Given the description of an element on the screen output the (x, y) to click on. 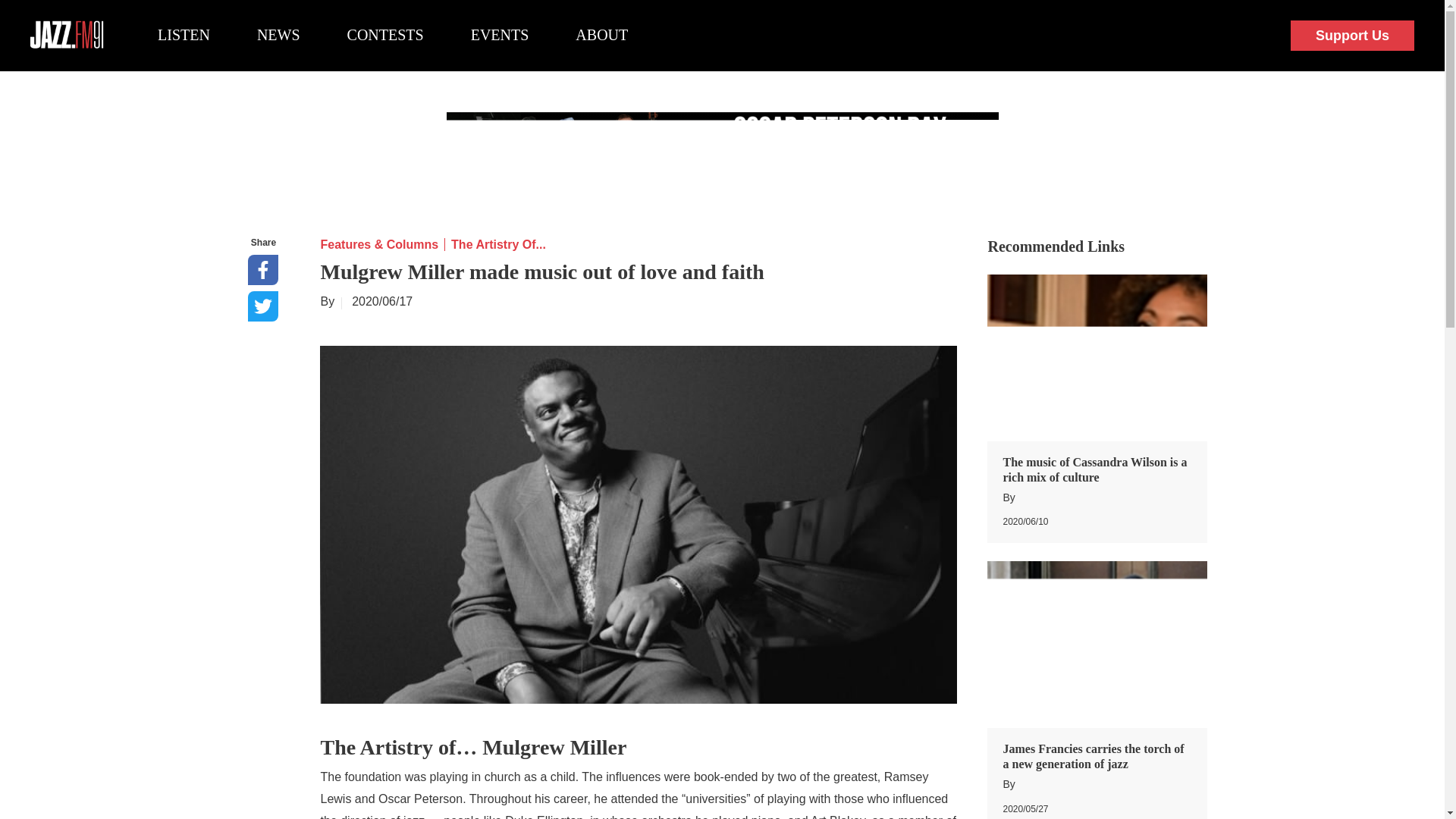
LISTEN (183, 35)
Support Us (1351, 35)
CONTESTS (384, 35)
ABOUT (601, 35)
EVENTS (499, 35)
NEWS (277, 35)
